Given the description of an element on the screen output the (x, y) to click on. 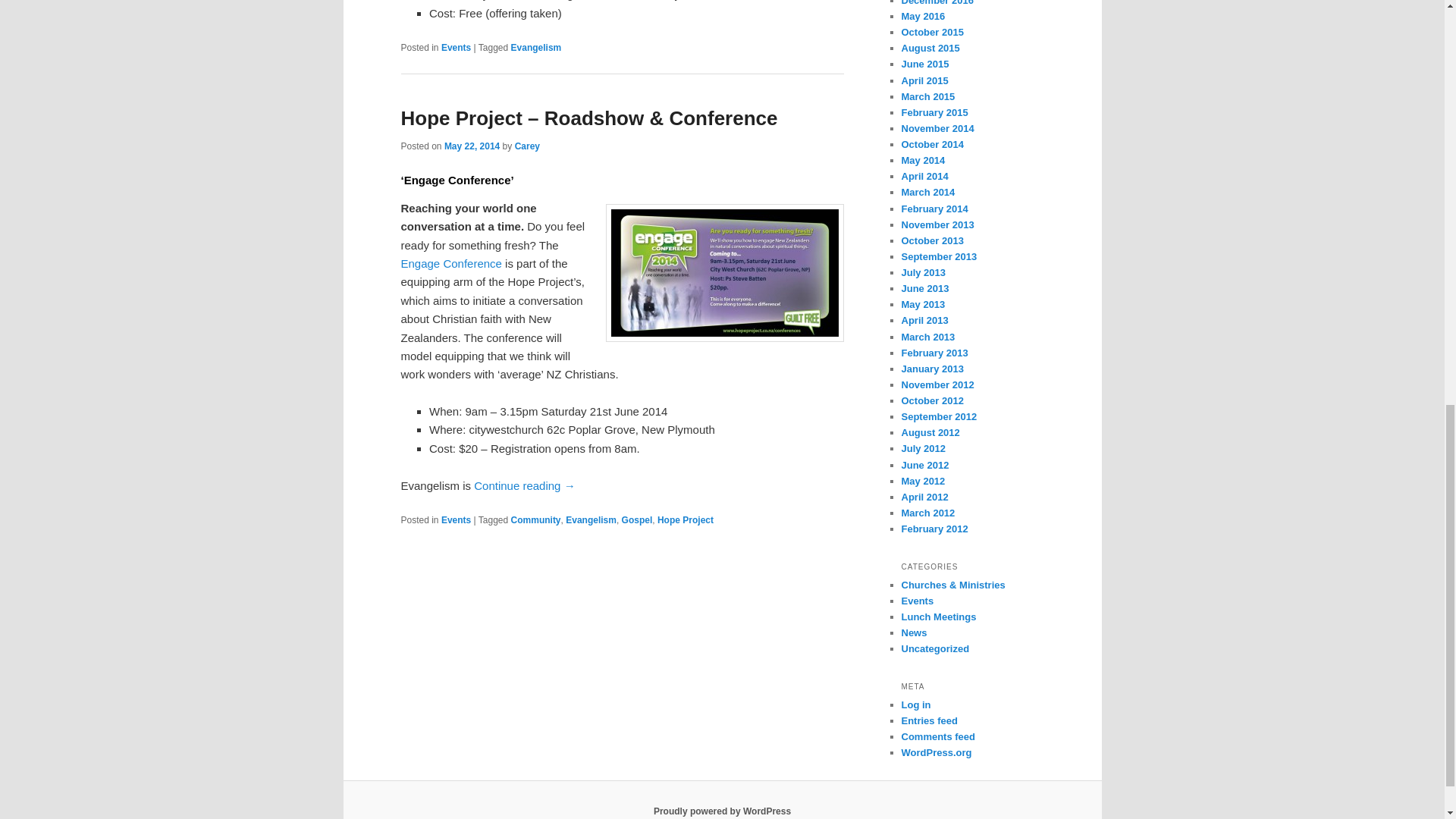
May 22, 2014 (471, 145)
Semantic Personal Publishing Platform (721, 810)
View all posts by Carey (527, 145)
12:44 pm (471, 145)
Engage Conference (450, 263)
Events (455, 47)
Carey (527, 145)
Evangelism (536, 47)
